Given the description of an element on the screen output the (x, y) to click on. 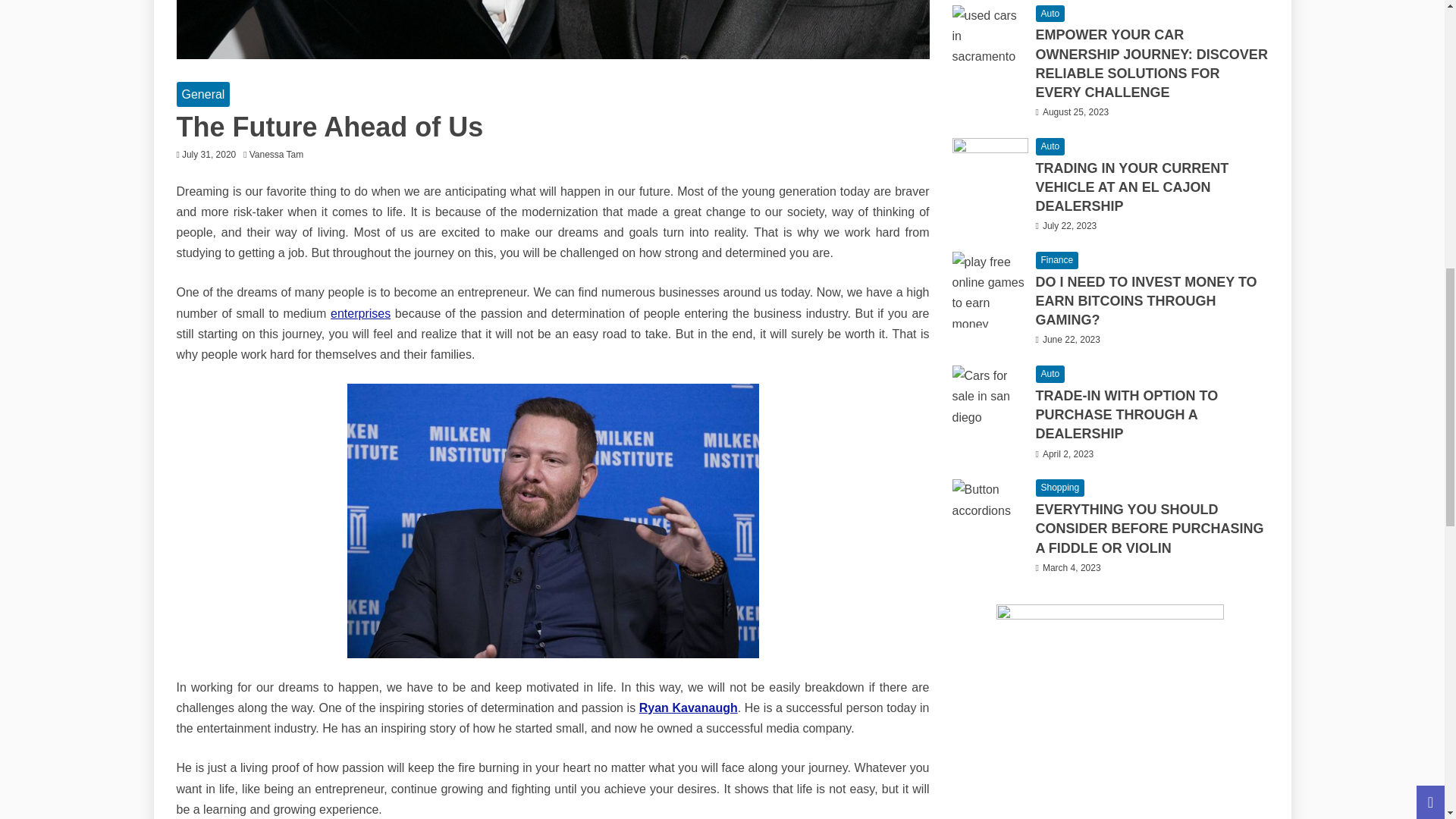
enterprises (360, 313)
Ryan Kavanaugh (688, 707)
July 31, 2020 (208, 154)
Vanessa Tam (279, 154)
General (203, 94)
